Given the description of an element on the screen output the (x, y) to click on. 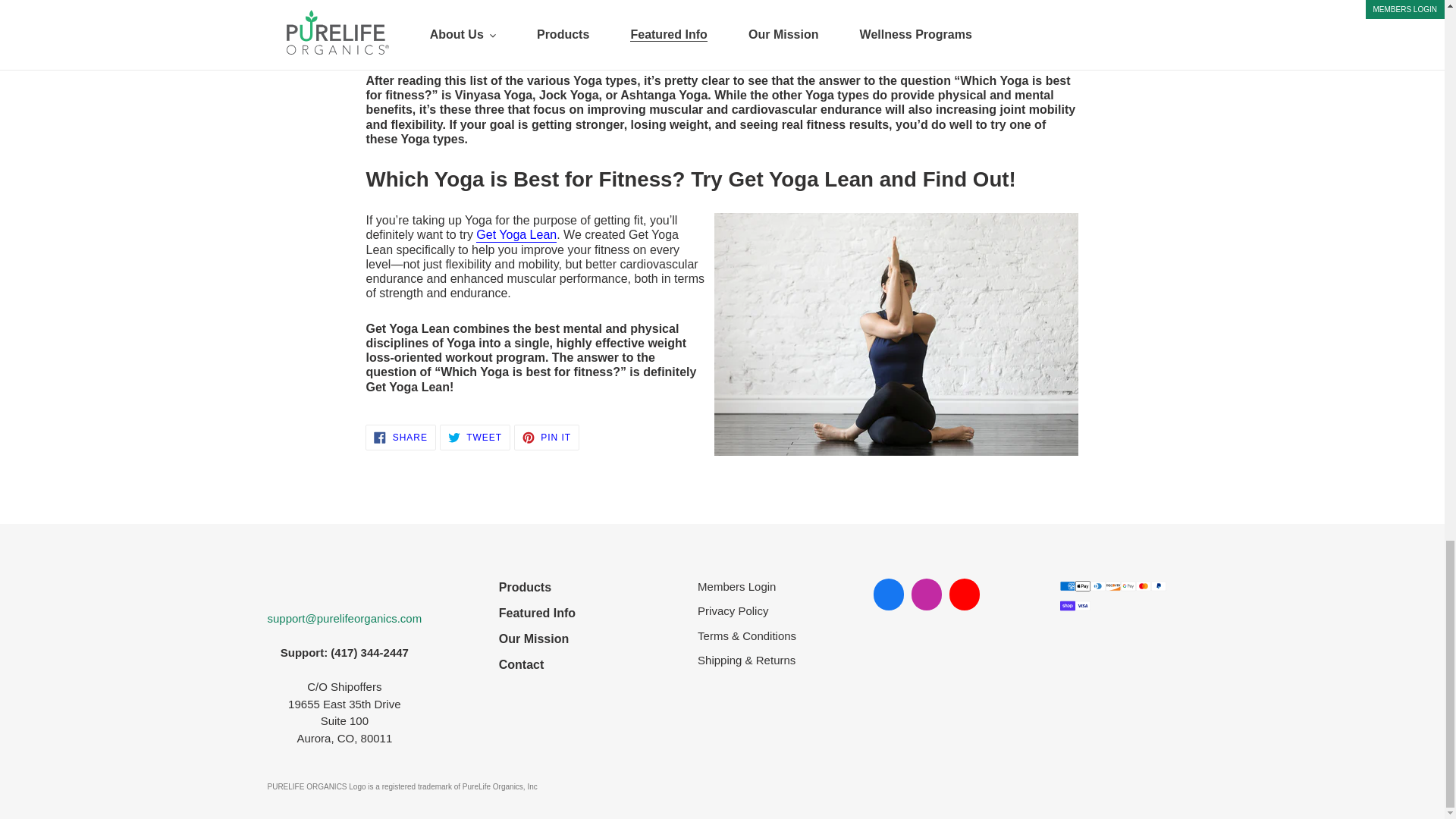
Members Login (746, 587)
Get Yoga Lean (516, 235)
Products (400, 437)
Privacy Policy (537, 587)
Contact (475, 437)
Featured Info (746, 610)
Our Mission (537, 665)
